Given the description of an element on the screen output the (x, y) to click on. 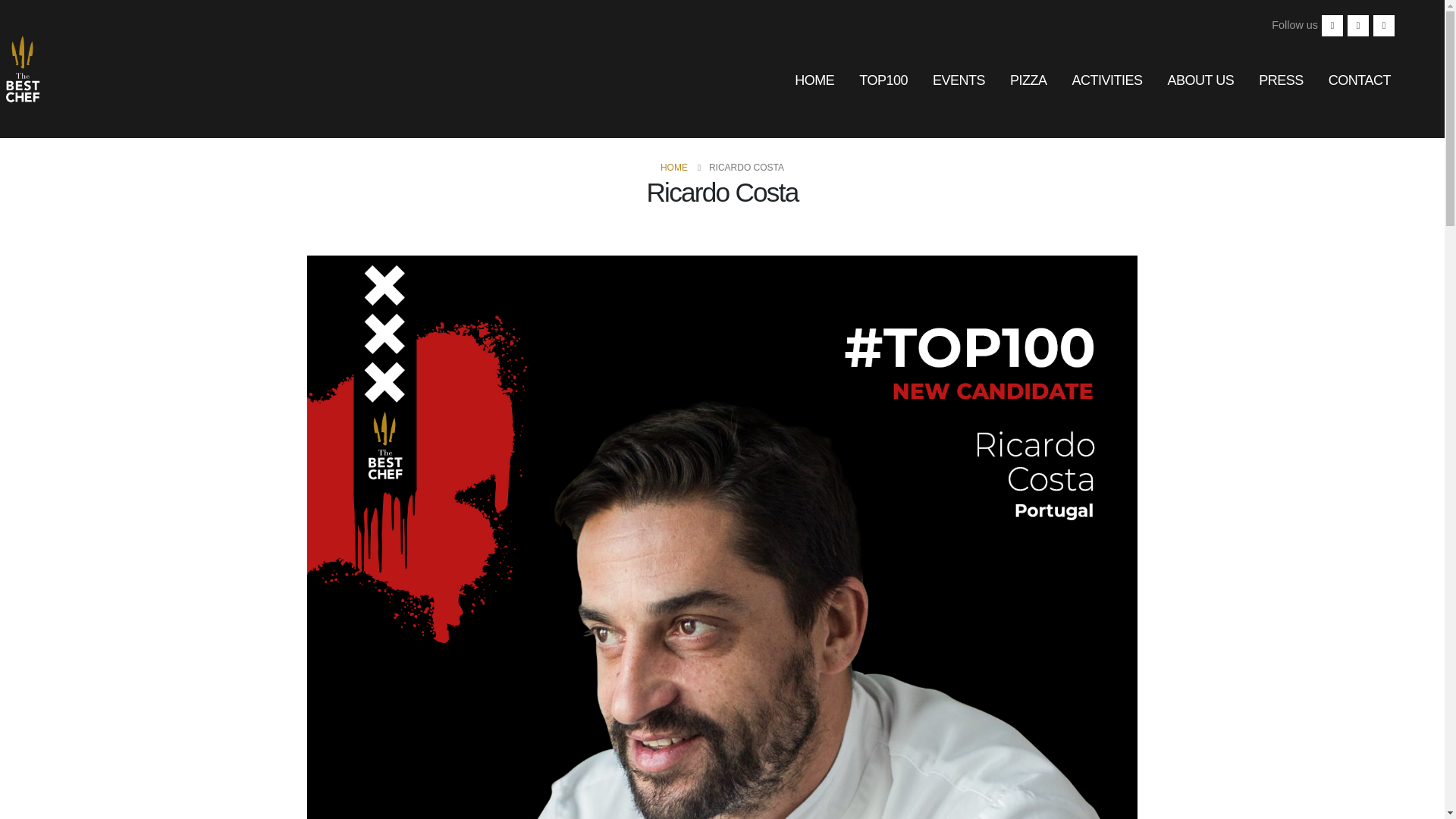
ACTIVITIES (1106, 79)
EVENTS (958, 79)
CONTACT (1359, 79)
PRESS (1281, 79)
Go to Home Page (674, 167)
Youtube (1358, 25)
TOP100 (883, 79)
ABOUT US (1201, 79)
Facebook (1332, 25)
Instagram (1383, 25)
